Given the description of an element on the screen output the (x, y) to click on. 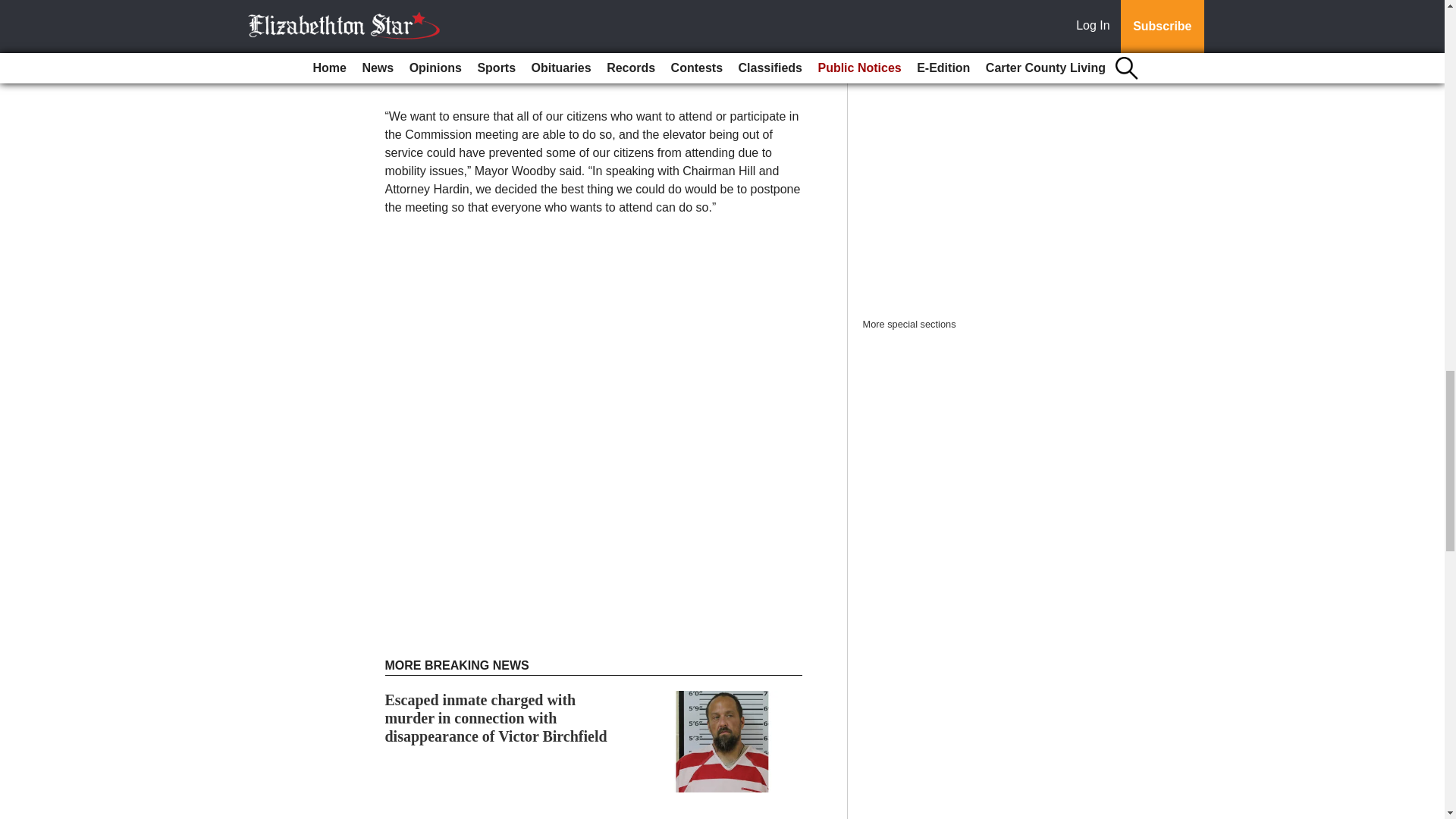
Subscribe (434, 67)
More special sections (909, 324)
Subscribe (434, 67)
